Given the description of an element on the screen output the (x, y) to click on. 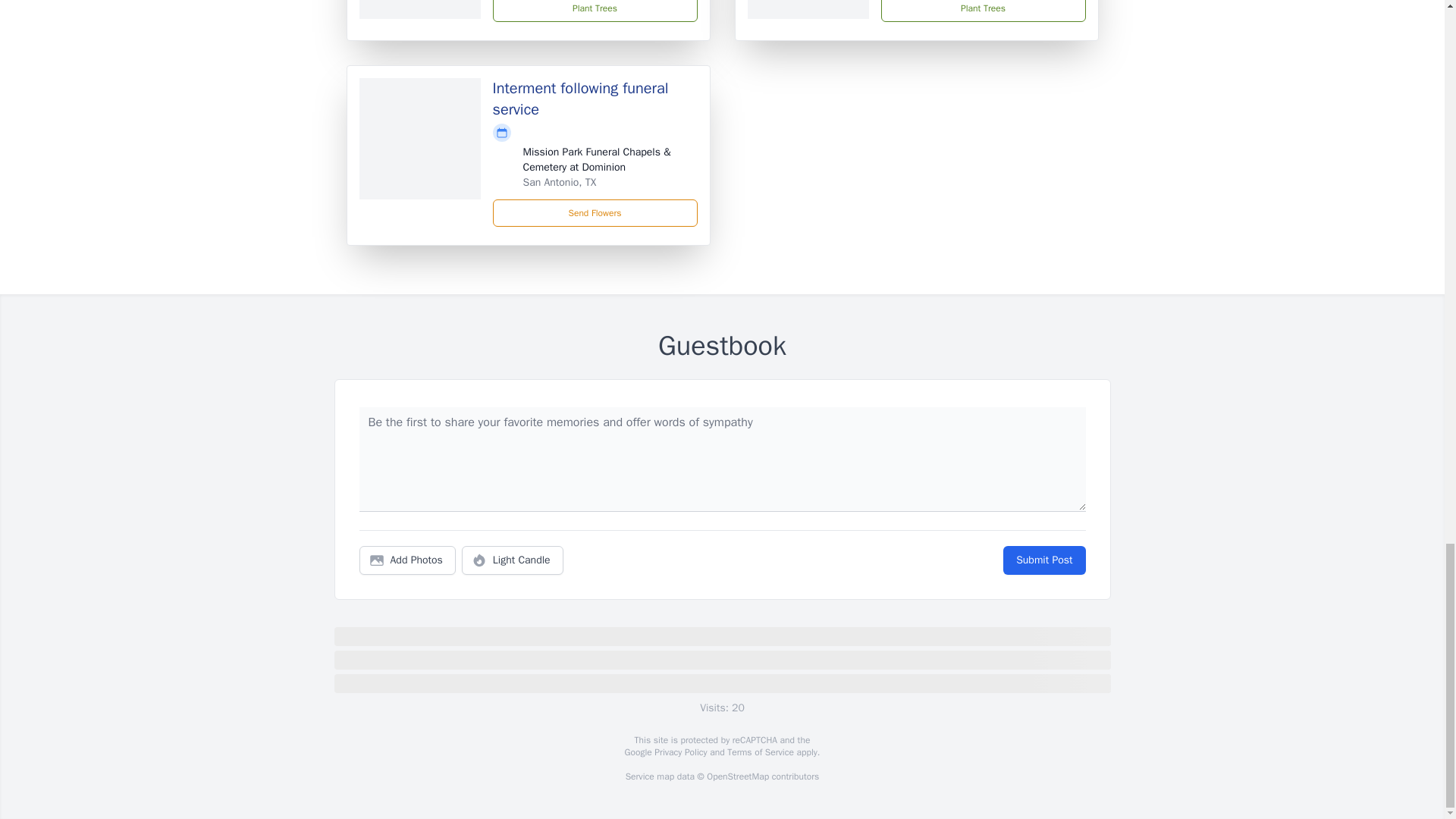
Send Flowers (595, 212)
Plant Trees (595, 11)
Add Photos (407, 560)
San Antonio, TX (559, 182)
Submit Post (1043, 560)
Light Candle (512, 560)
Privacy Policy (679, 752)
Plant Trees (983, 11)
OpenStreetMap (737, 776)
Terms of Service (759, 752)
